Given the description of an element on the screen output the (x, y) to click on. 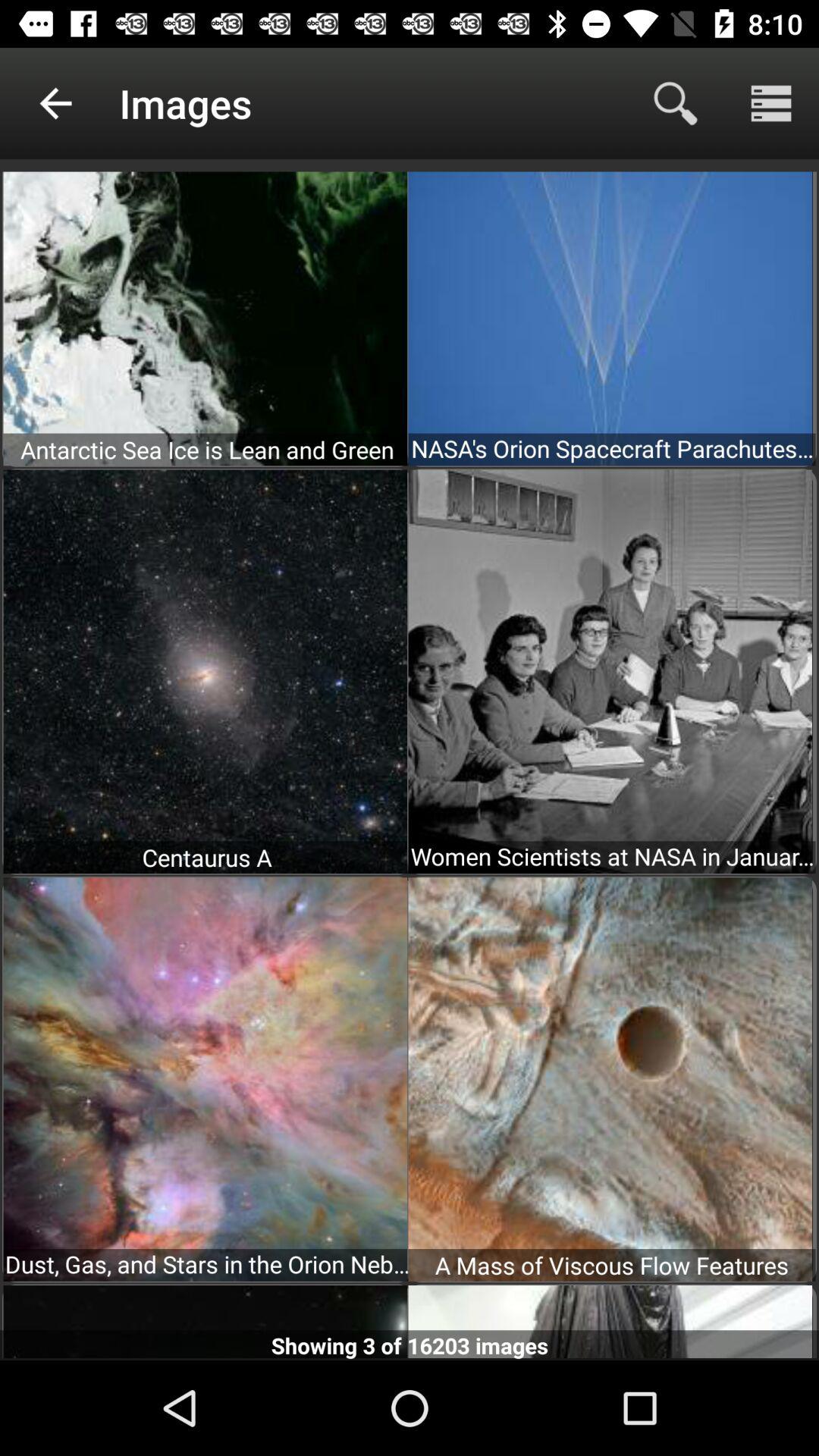
select the search icon on top right hand side (675, 103)
select the first image in the second row (205, 671)
click on the second box which is mention on nasas orion spacecraft parachutes (610, 317)
click on the first image from first row (205, 317)
